Given the description of an element on the screen output the (x, y) to click on. 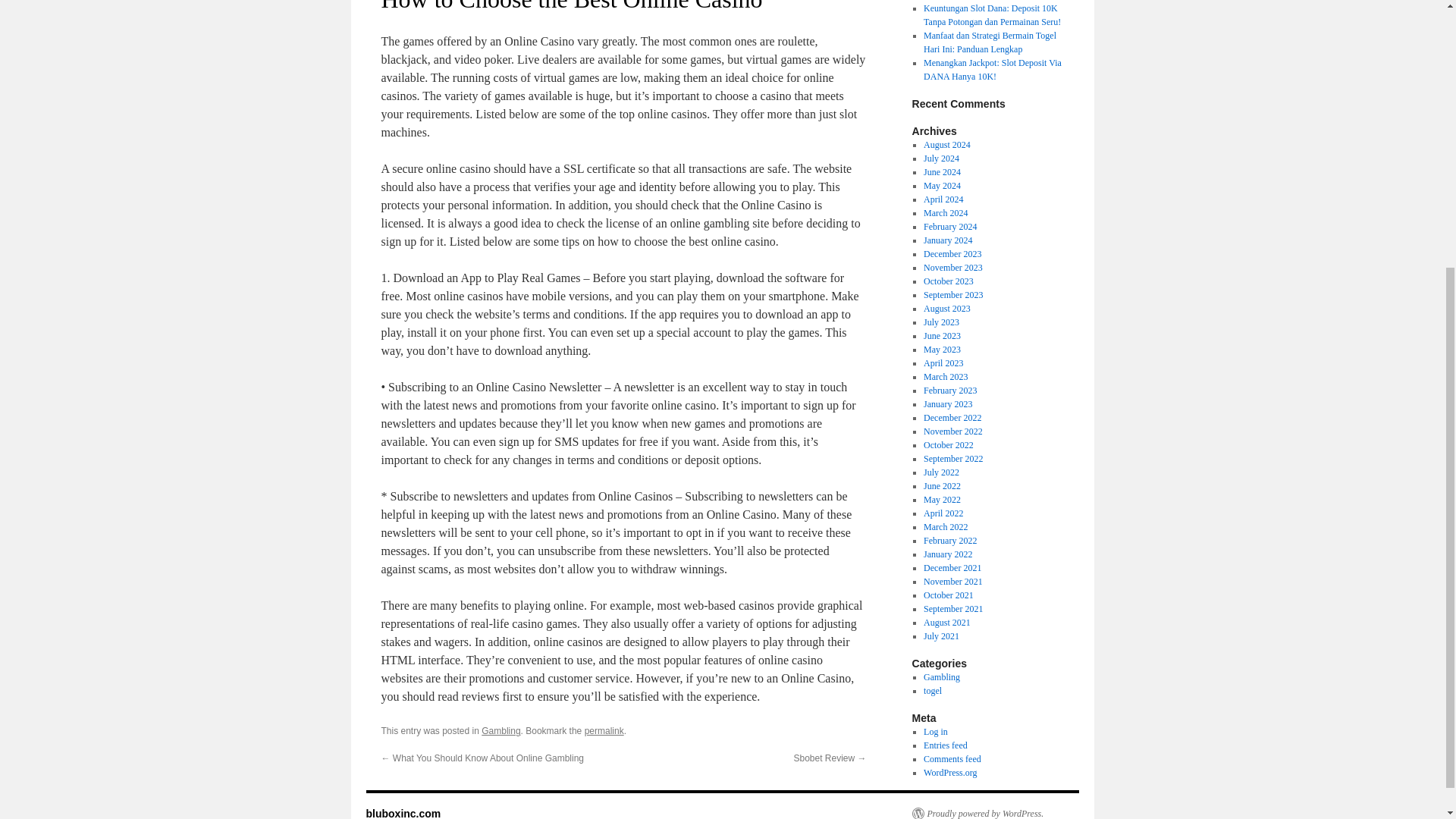
permalink (604, 730)
May 2023 (941, 348)
August 2024 (947, 144)
May 2024 (941, 185)
June 2023 (941, 335)
December 2022 (952, 417)
Permalink to How to Choose the Best Online Casino (604, 730)
April 2023 (942, 362)
February 2023 (949, 389)
November 2023 (952, 267)
